Given the description of an element on the screen output the (x, y) to click on. 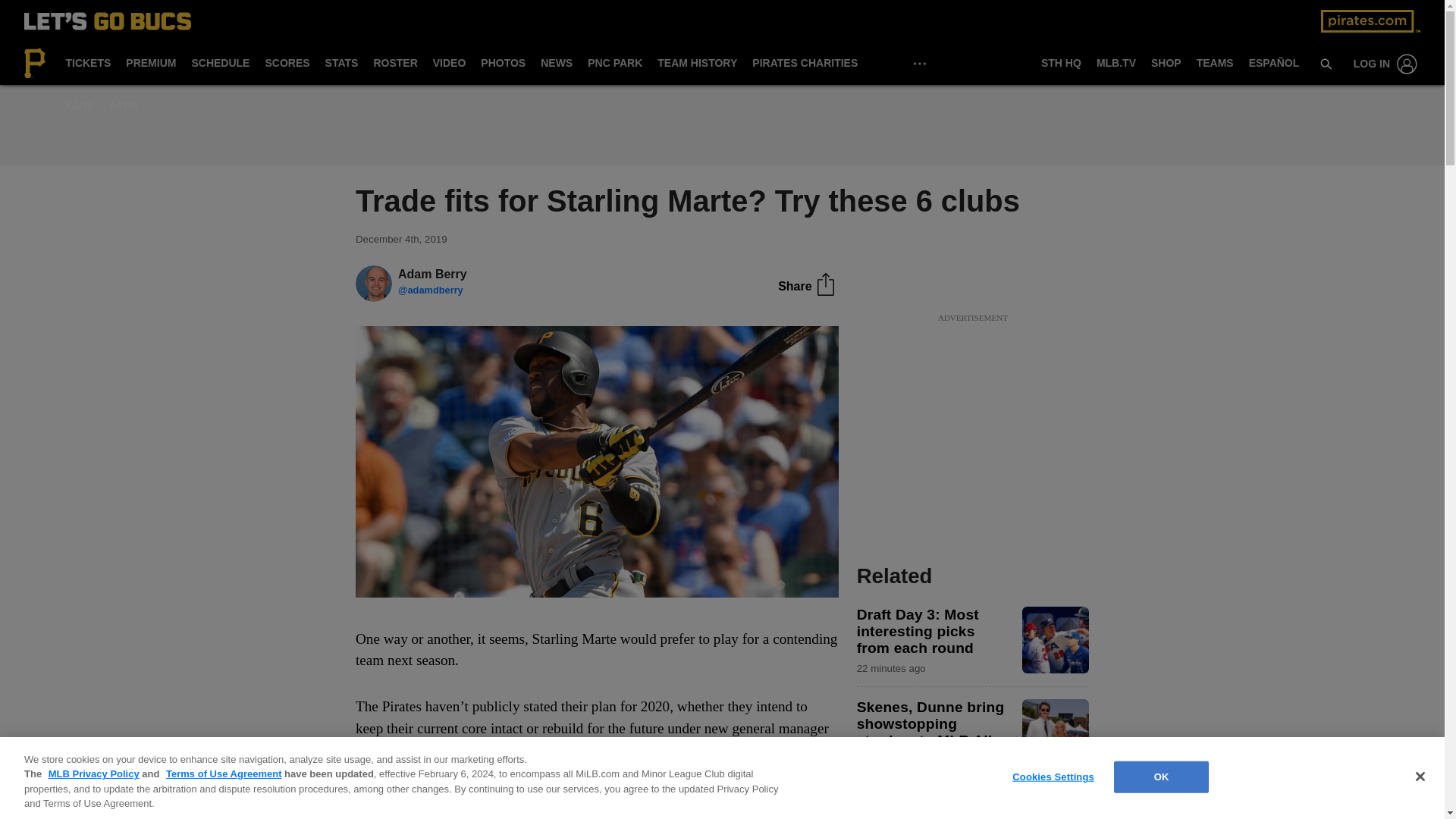
STATS (341, 63)
TICKETS (87, 63)
ROSTER (395, 63)
3rd party ad content (721, 124)
search-2 (1326, 63)
3rd party ad content (972, 420)
share-square-2 (825, 283)
SCORES (287, 63)
PREMIUM (150, 63)
SCHEDULE (220, 63)
